Given the description of an element on the screen output the (x, y) to click on. 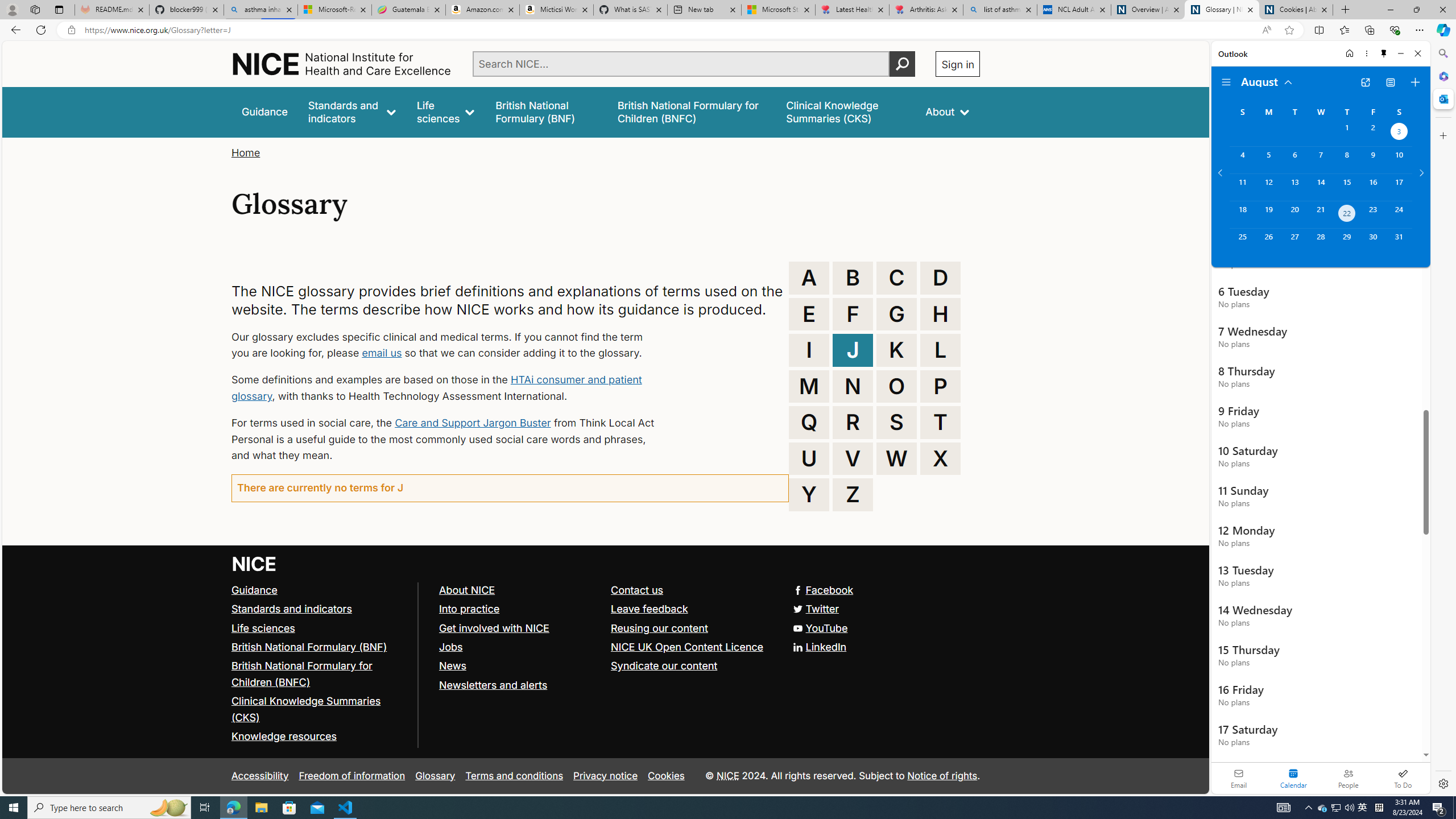
email us (381, 353)
Wednesday, August 14, 2024.  (1320, 186)
Friday, August 30, 2024.  (1372, 241)
Monday, August 12, 2024.  (1268, 186)
K (896, 350)
Sunday, August 4, 2024.  (1242, 159)
V (852, 458)
LinkedIn (820, 646)
Leave feedback (692, 609)
Y (809, 494)
Tuesday, August 20, 2024.  (1294, 214)
